Given the description of an element on the screen output the (x, y) to click on. 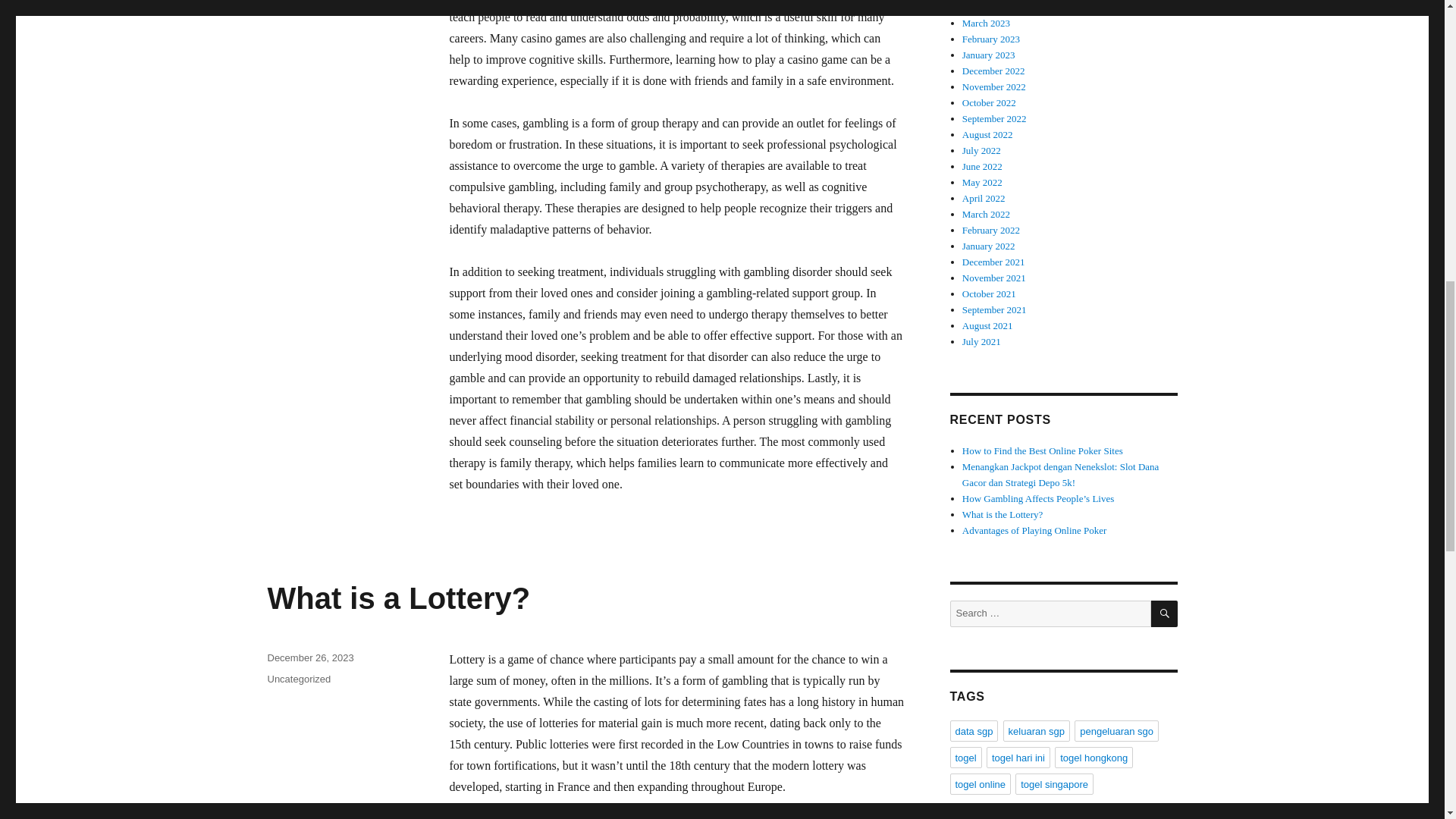
Uncategorized (298, 678)
December 26, 2023 (309, 657)
What is a Lottery? (397, 598)
